Given the description of an element on the screen output the (x, y) to click on. 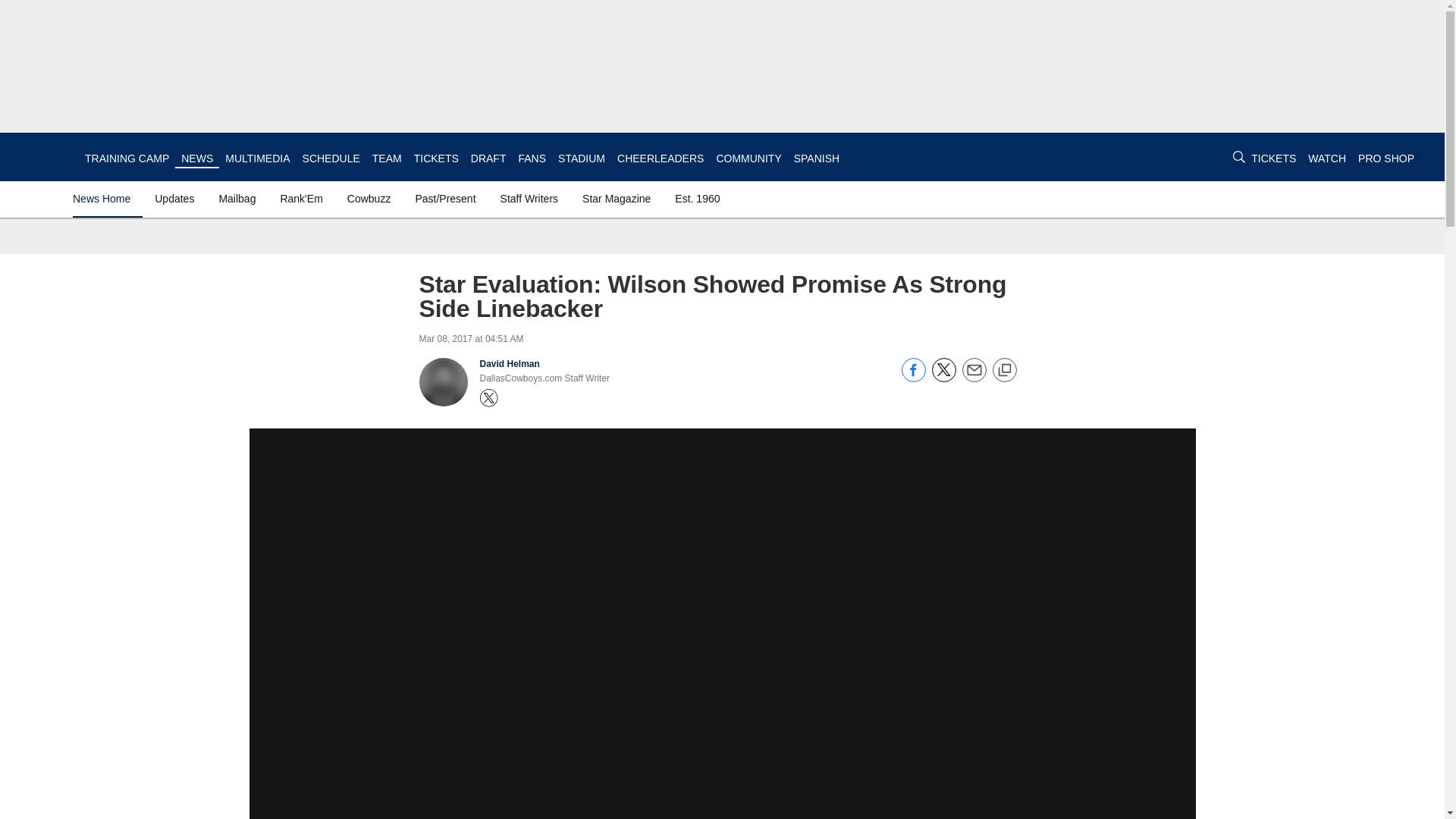
COMMUNITY (748, 158)
SPANISH (816, 158)
TICKETS (435, 158)
TRAINING CAMP (126, 158)
TICKETS (1272, 158)
News Home (104, 198)
Link to club's homepage (42, 156)
Updates (174, 198)
FANS (532, 158)
DRAFT (488, 158)
DRAFT (488, 158)
Cowbuzz (368, 198)
TEAM (386, 158)
SCHEDULE (330, 158)
CHEERLEADERS (660, 158)
